Given the description of an element on the screen output the (x, y) to click on. 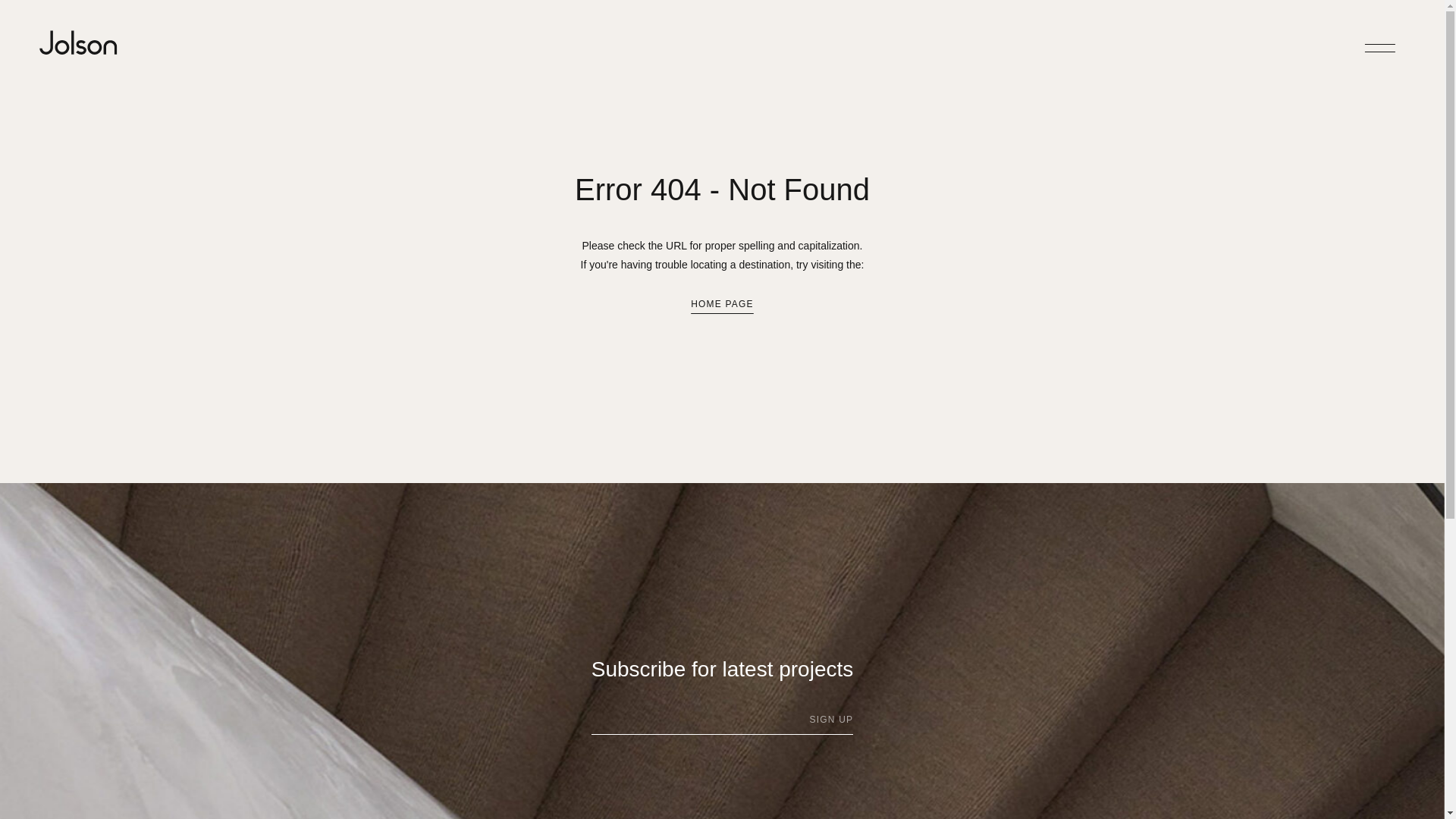
Privacy Policy (194, 653)
INSTAGRAM (201, 593)
LINKEDIN (196, 611)
Sign up (831, 719)
Sign up (831, 719)
ENQUIRE NOW (77, 525)
HOME PAGE (722, 303)
